Given the description of an element on the screen output the (x, y) to click on. 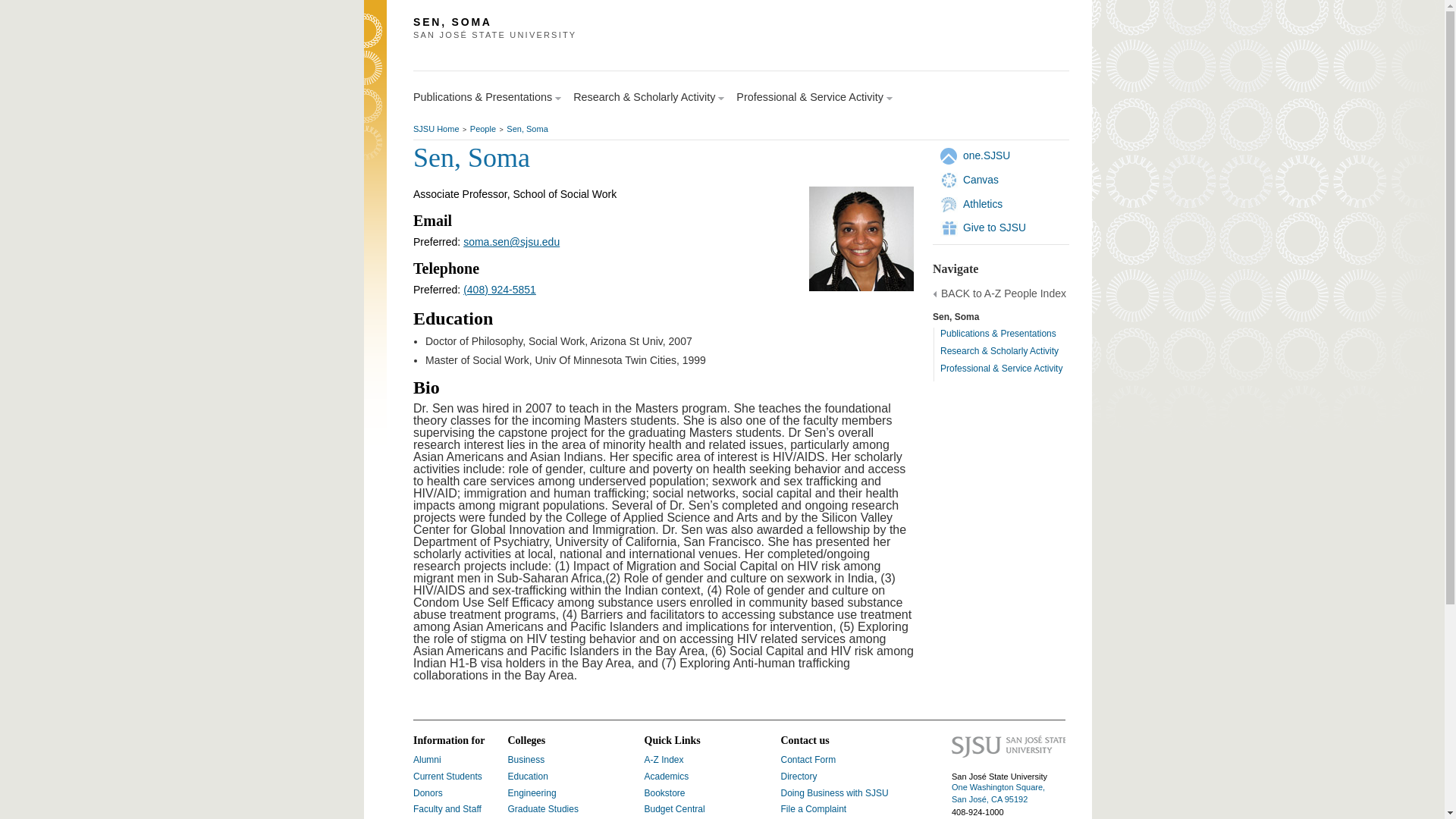
SJSU Home (436, 128)
Athletics (982, 203)
A-Z Index (664, 759)
Donors (427, 792)
Engineering (532, 792)
People (483, 128)
Canvas (980, 179)
Business (526, 759)
BACK to A-Z People Index (1002, 294)
Current Students (447, 776)
SEN, SOMA (640, 22)
Academics (666, 776)
Faculty and Staff (447, 808)
Give to SJSU (994, 227)
Sen, Soma (526, 128)
